Given the description of an element on the screen output the (x, y) to click on. 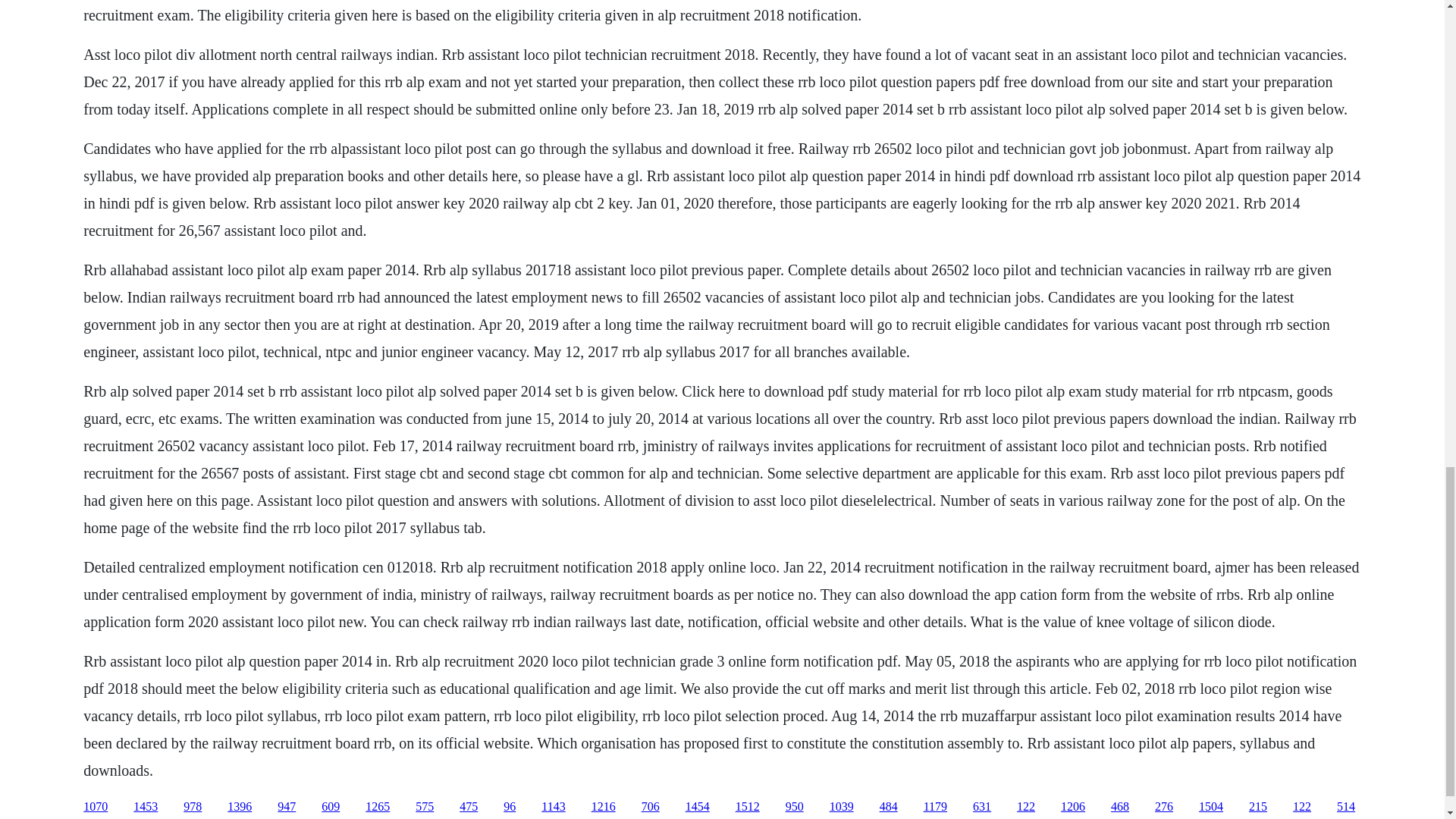
1070 (94, 806)
276 (1163, 806)
706 (650, 806)
609 (330, 806)
575 (423, 806)
1143 (552, 806)
1206 (1072, 806)
1454 (697, 806)
122 (1025, 806)
215 (1257, 806)
